Given the description of an element on the screen output the (x, y) to click on. 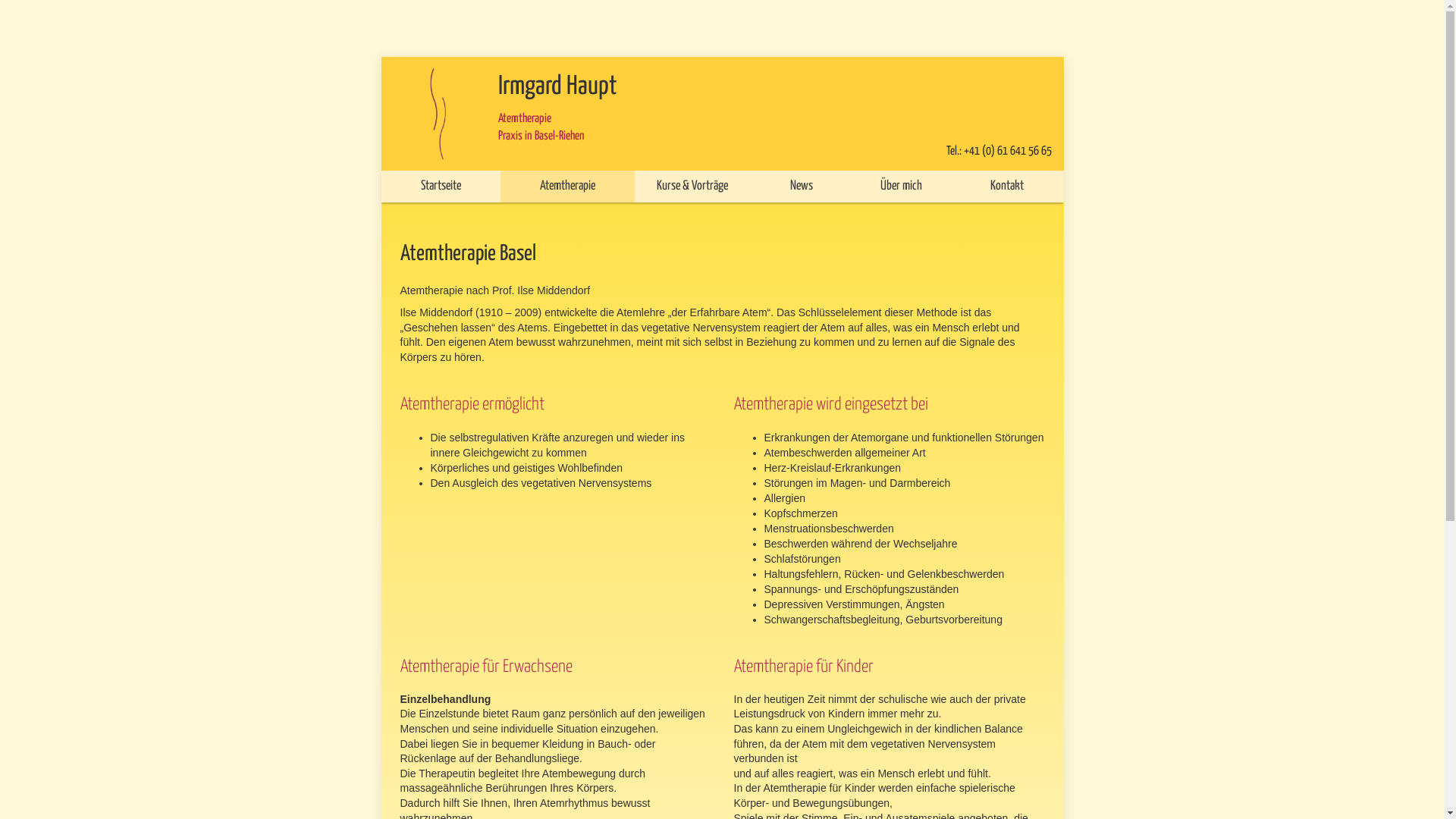
Startseite Element type: text (439, 186)
Atemtherapie Element type: text (567, 186)
News Element type: text (800, 186)
Kontakt Element type: text (1006, 186)
